Given the description of an element on the screen output the (x, y) to click on. 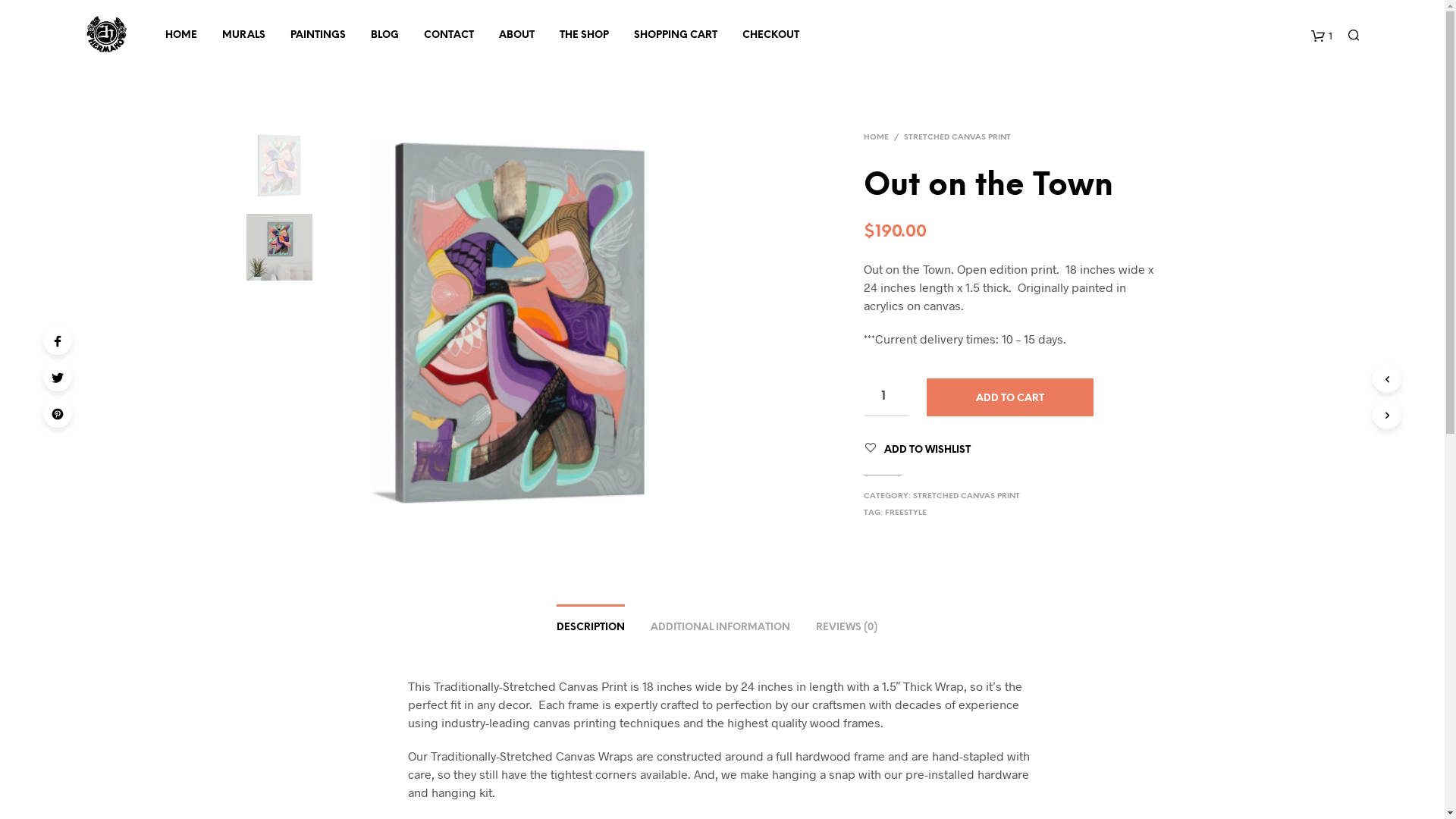
STRETCHED CANVAS PRINT Element type: text (957, 137)
PAINTINGS Element type: text (318, 34)
SHOPPING CART Element type: text (675, 34)
FREESTYLE Element type: text (905, 512)
Screen Shot 2020-12-06 at 8.09.15 PM Element type: hover (520, 323)
MURALS Element type: text (243, 34)
ADD TO CART Element type: text (1009, 397)
HOME Element type: text (878, 137)
ADDITIONAL INFORMATION Element type: text (720, 622)
BLOG Element type: text (384, 34)
DESCRIPTION Element type: text (590, 622)
Pinterest Element type: hover (57, 412)
STRETCHED CANVAS PRINT Element type: text (966, 496)
ABOUT Element type: text (516, 34)
Screen Shot 2020-12-06 at 8.09.31 PM Element type: hover (907, 325)
Twitter Element type: hover (57, 376)
THE SHOP Element type: text (584, 34)
Facebook Element type: hover (57, 340)
1 Element type: text (1320, 34)
CONTACT Element type: text (448, 34)
HOME Element type: text (180, 34)
ADD TO WISHLIST Element type: text (927, 450)
REVIEWS (0) Element type: text (846, 622)
Qty Element type: hover (886, 397)
CHECKOUT Element type: text (770, 34)
